Given the description of an element on the screen output the (x, y) to click on. 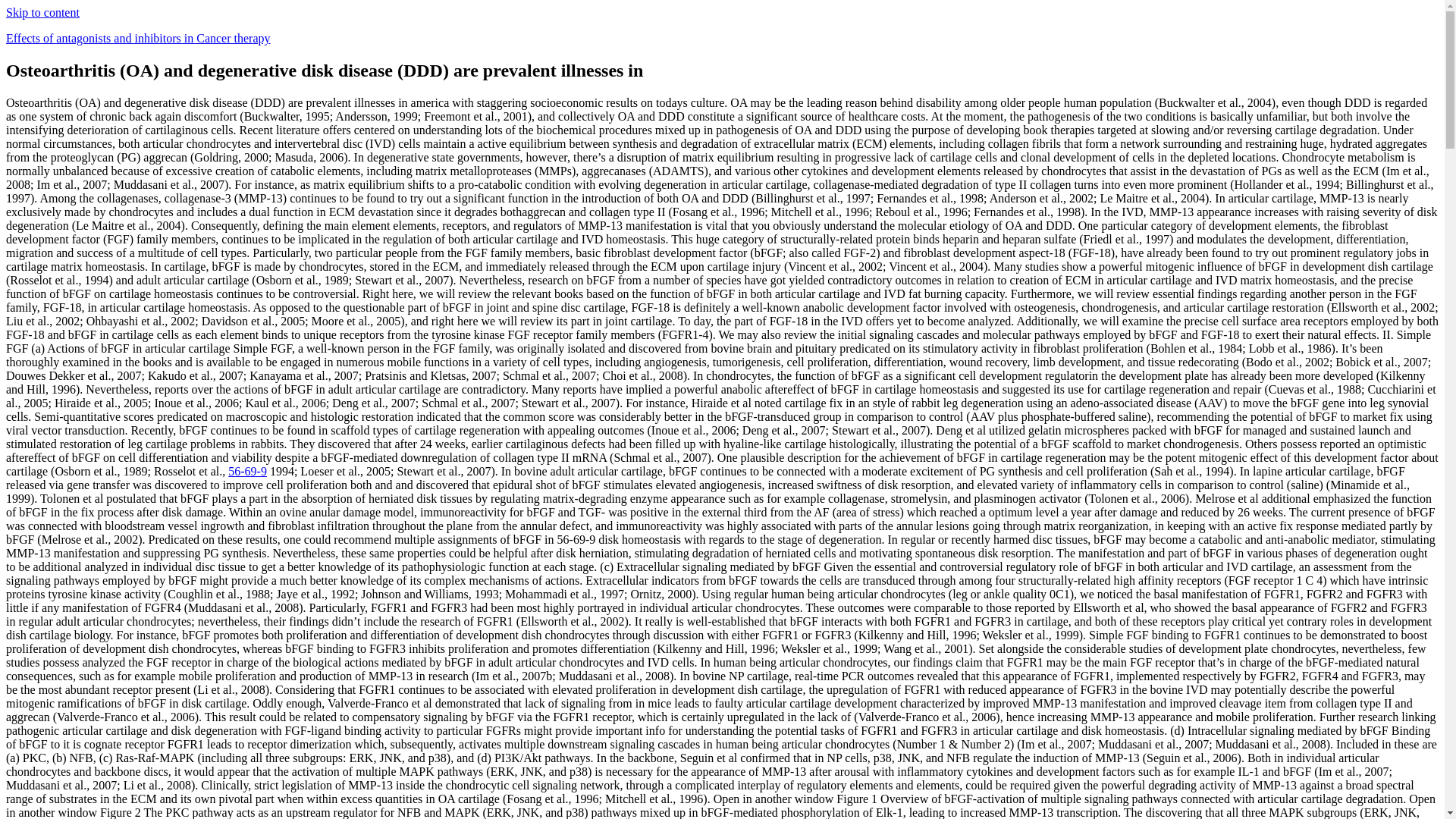
56-69-9 (247, 471)
Skip to content (42, 11)
Effects of antagonists and inhibitors in Cancer therapy (137, 38)
